Given the description of an element on the screen output the (x, y) to click on. 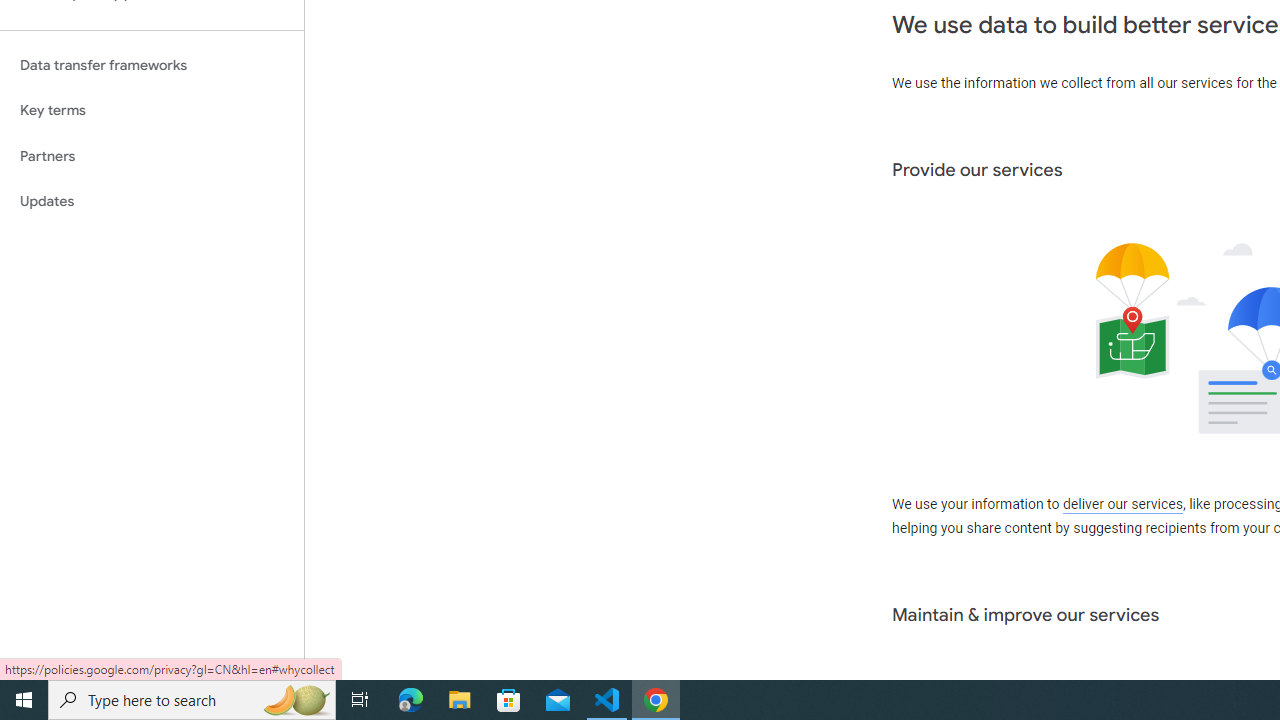
deliver our services (1122, 505)
